Given the description of an element on the screen output the (x, y) to click on. 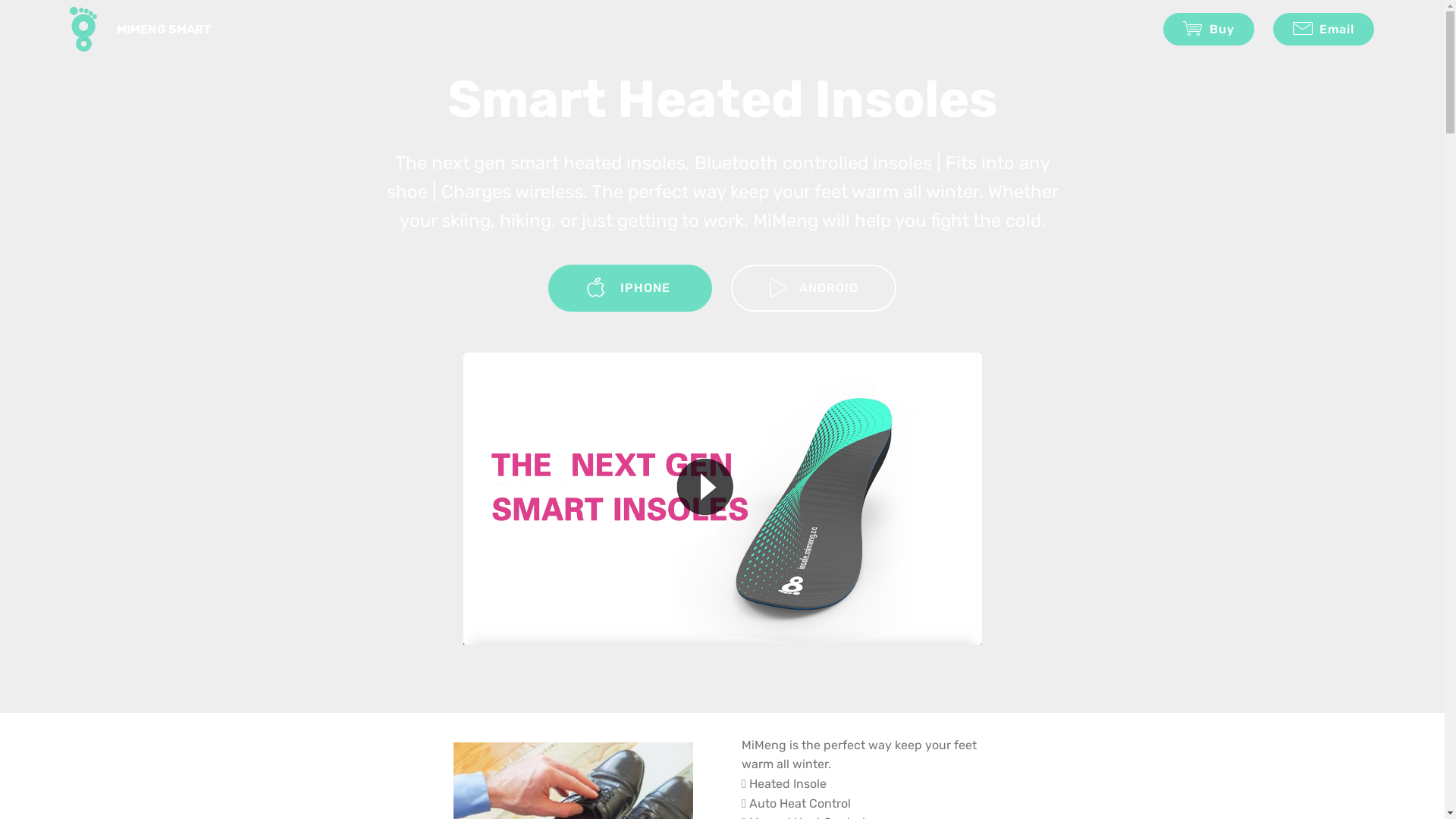
 IPHONE  Element type: text (630, 287)
MiMeng Smart Element type: hover (83, 29)
MIMENG SMART Element type: text (175, 28)
Buy Element type: text (1208, 28)
Email Element type: text (1323, 28)
ANDROID Element type: text (813, 287)
